Given the description of an element on the screen output the (x, y) to click on. 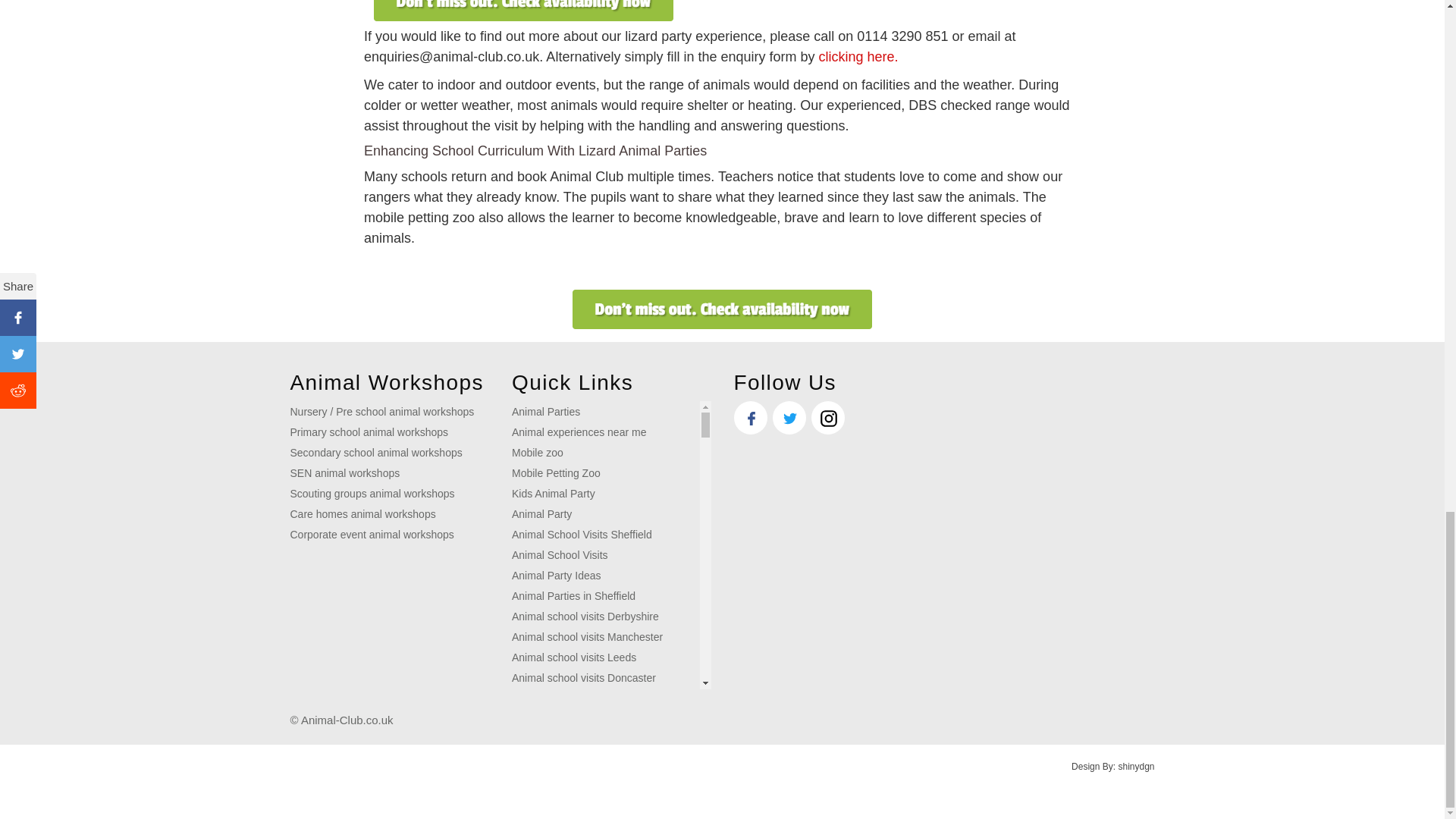
Corporate event animal workshops (370, 534)
Animal Parties (545, 411)
Scouting groups animal workshops (371, 493)
clicking here. (856, 56)
Care homes animal workshops (362, 513)
SEN animal workshops (343, 472)
Secondary school animal workshops (375, 452)
Primary school animal workshops (368, 431)
Theme Designed and Developed By shinydgn (1112, 766)
